Given the description of an element on the screen output the (x, y) to click on. 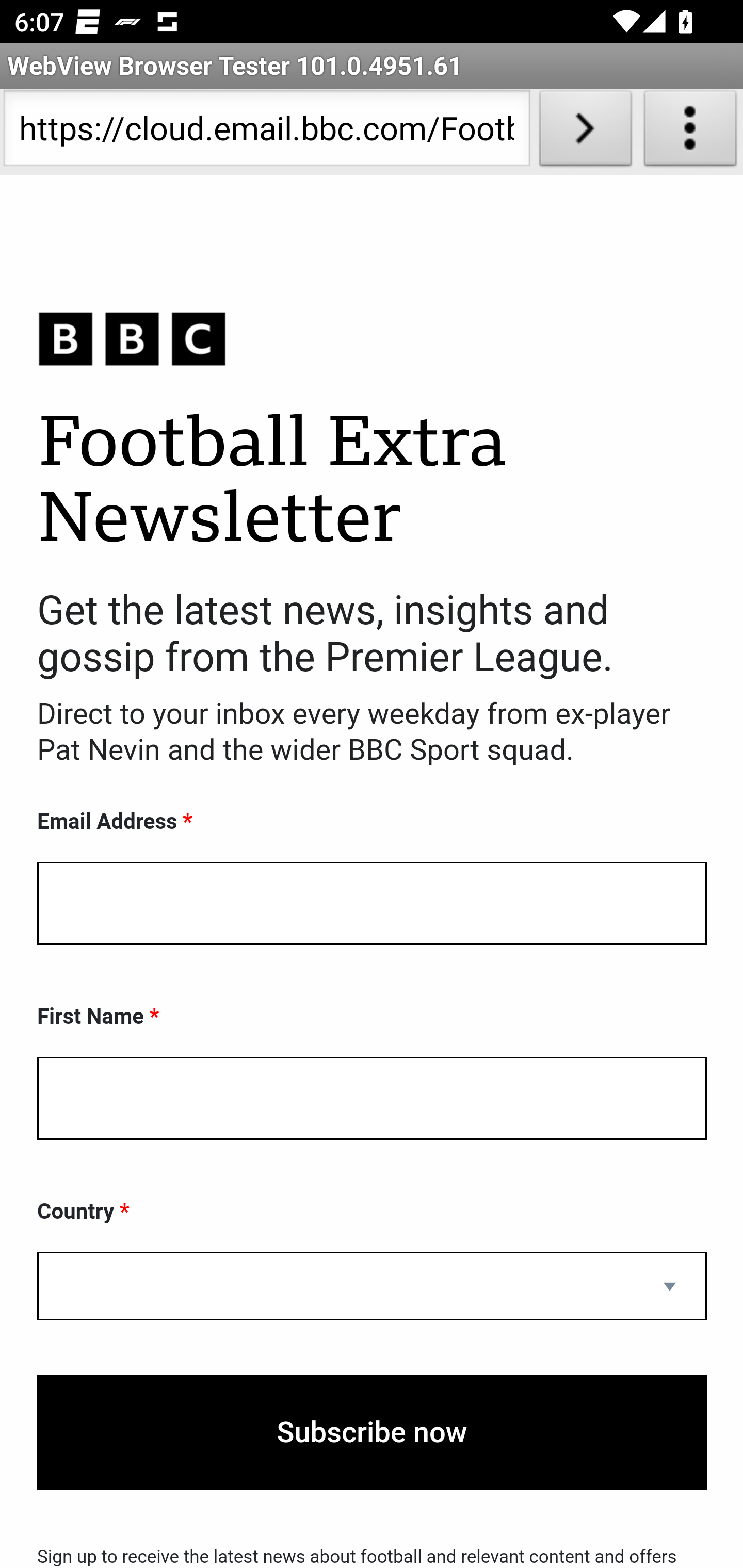
Load URL (585, 132)
About WebView (690, 132)
BBC (372, 338)
Subscribe now (372, 1432)
